Given the description of an element on the screen output the (x, y) to click on. 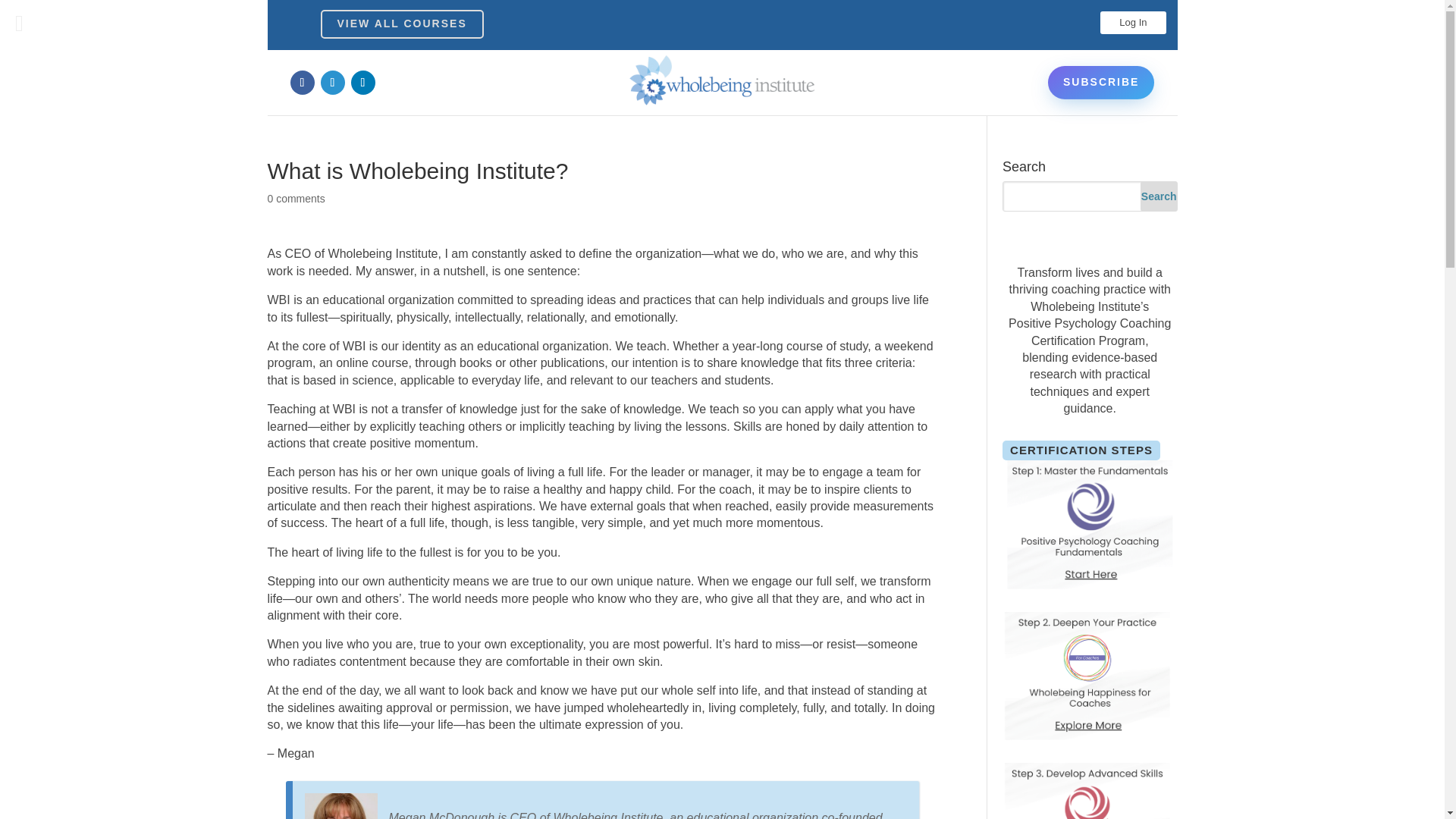
0 comments (295, 198)
Follow on Facebook (301, 82)
Search (1158, 195)
Follow on LinkedIn (362, 82)
SUBSCRIBE (1101, 82)
Search (1158, 195)
Log In (1133, 22)
VIEW ALL COURSES (401, 23)
Follow on X (331, 82)
